Given the description of an element on the screen output the (x, y) to click on. 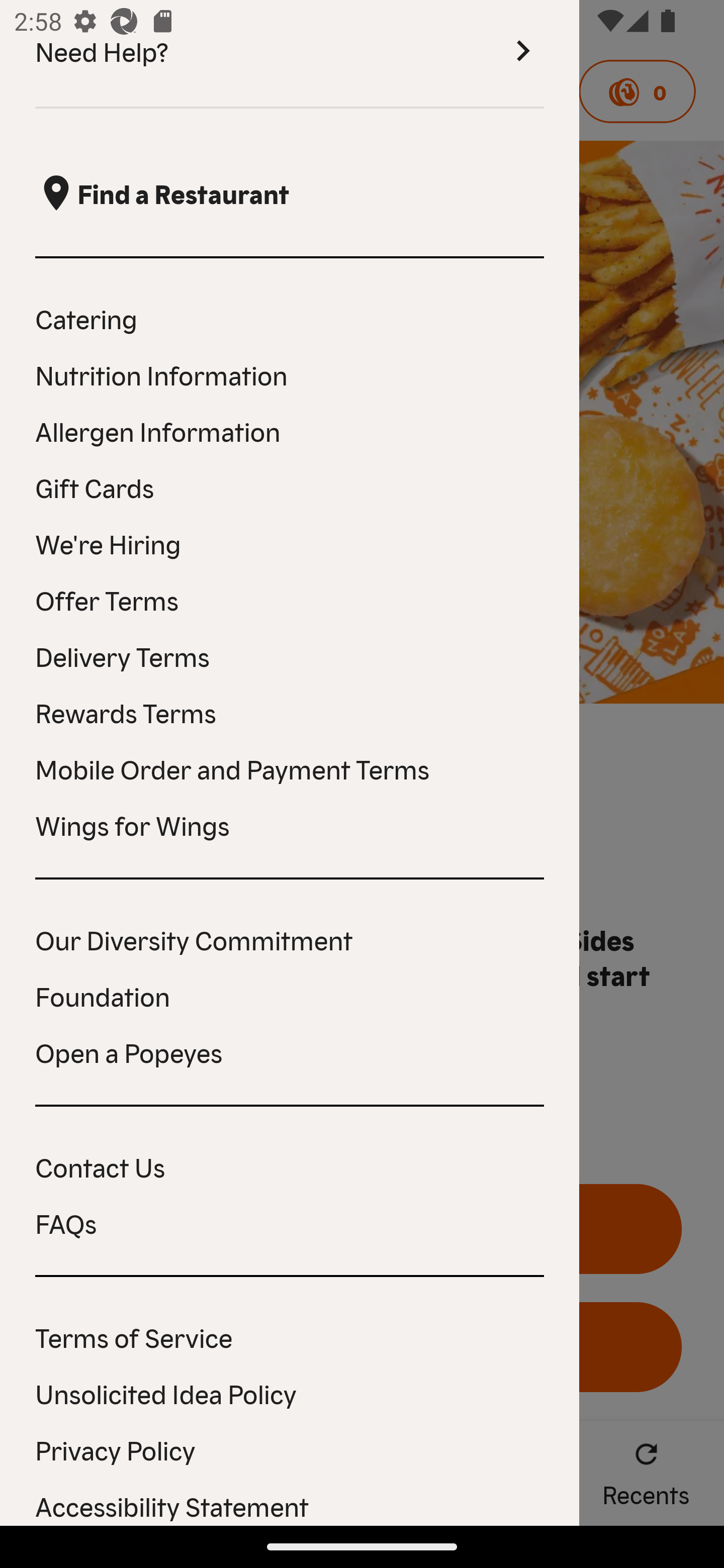
Need Help? Need Help?  (289, 54)
, Find a Restaurant  Find a Restaurant (289, 193)
Catering (289, 318)
Nutrition Information (289, 374)
Allergen Information (289, 430)
Gift Cards (289, 486)
We're Hiring (289, 543)
Offer Terms (289, 599)
Delivery Terms (289, 655)
Rewards Terms (289, 711)
Mobile Order and Payment Terms (289, 768)
Wings for Wings (289, 824)
Our Diversity Commitment (289, 938)
Foundation (289, 995)
Open a Popeyes (289, 1051)
Contact Us (289, 1166)
FAQs (289, 1222)
Terms of Service (289, 1336)
Unsolicited Idea Policy (289, 1393)
Privacy Policy (289, 1449)
Accessibility Statement (289, 1505)
